Given the description of an element on the screen output the (x, y) to click on. 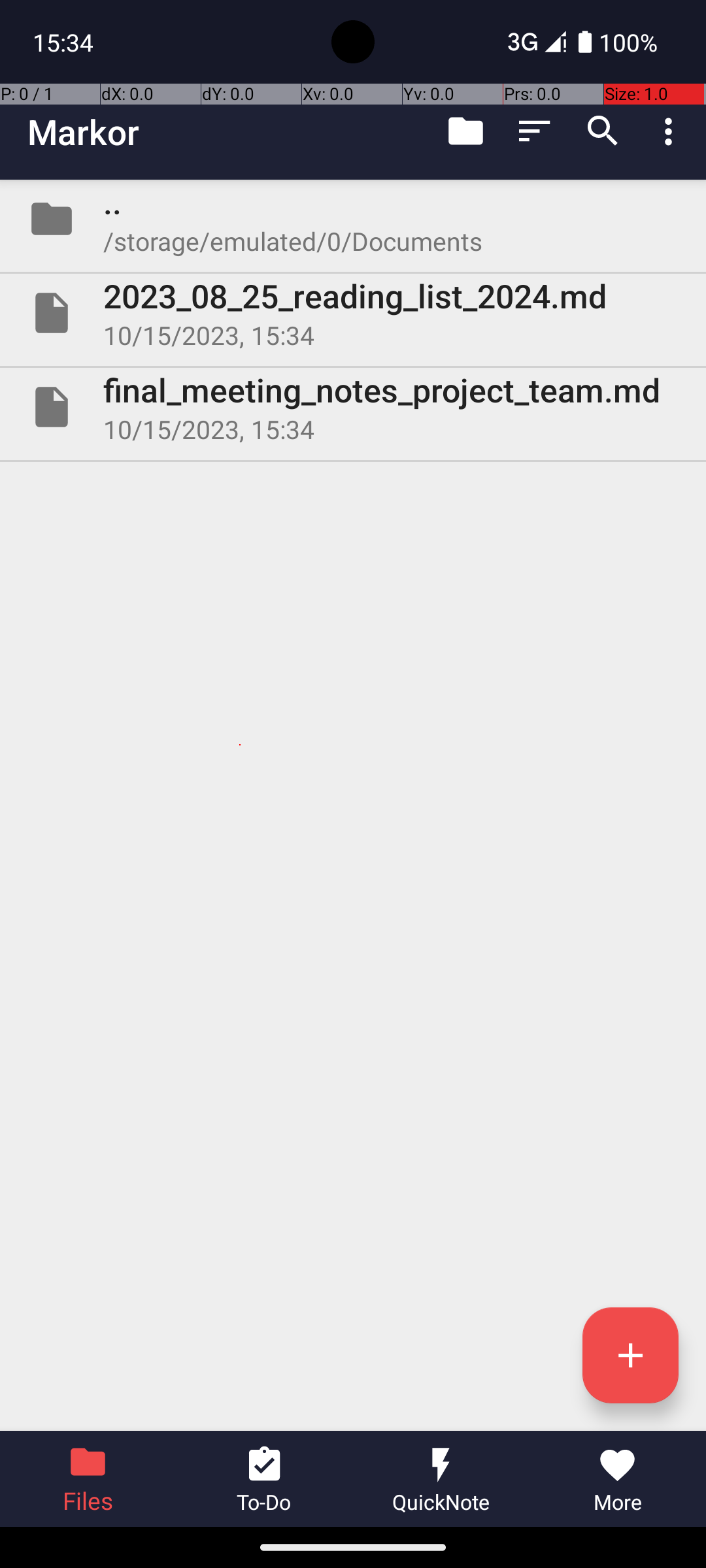
File 2023_08_25_reading_list_2024.md  Element type: android.widget.LinearLayout (353, 312)
File final_meeting_notes_project_team.md  Element type: android.widget.LinearLayout (353, 406)
